Given the description of an element on the screen output the (x, y) to click on. 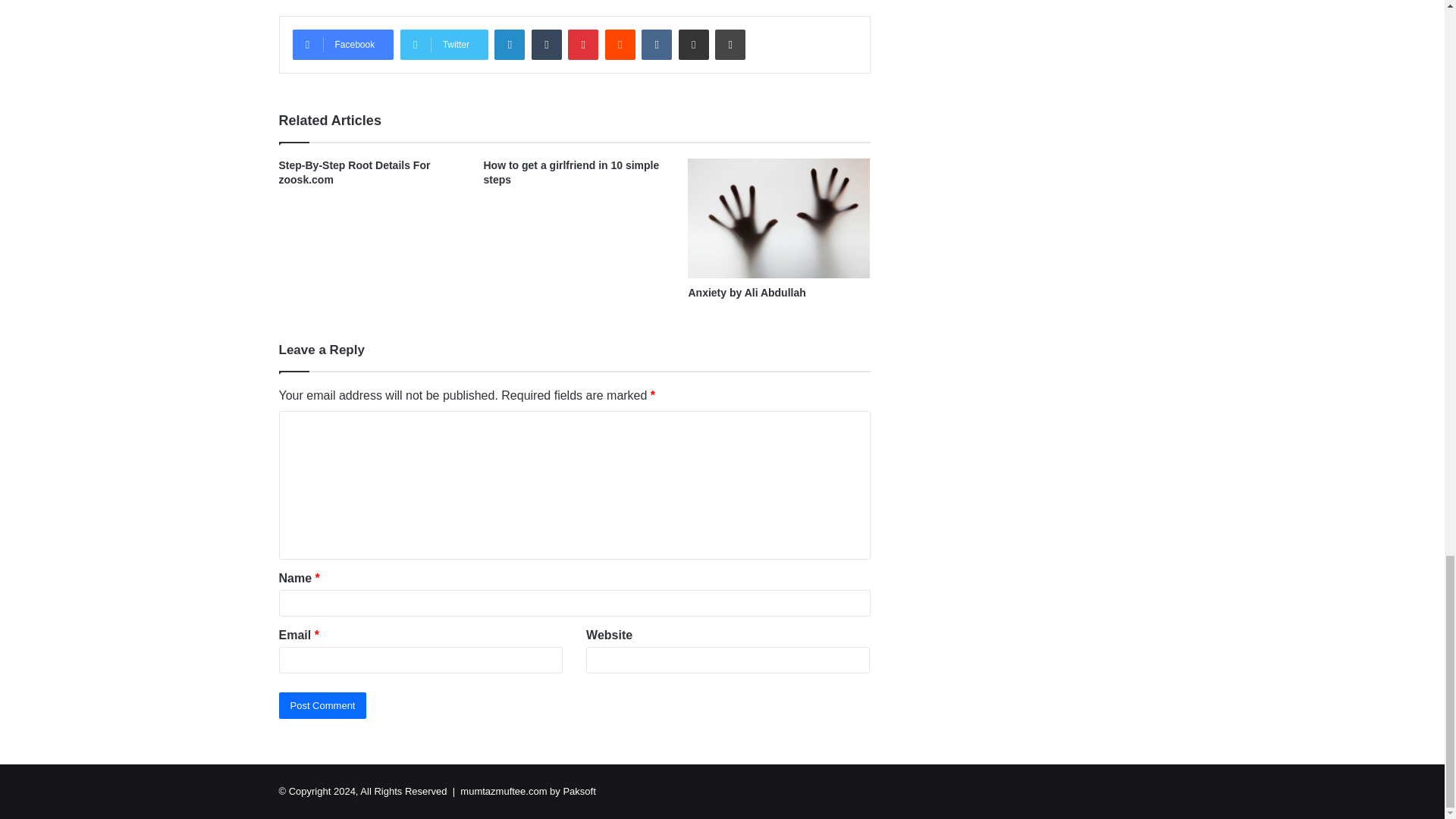
Share via Email (693, 44)
Tumblr (546, 44)
Pinterest (582, 44)
VKontakte (656, 44)
Facebook (343, 44)
Print (729, 44)
Twitter (443, 44)
LinkedIn (509, 44)
Post Comment (322, 705)
Reddit (619, 44)
